Given the description of an element on the screen output the (x, y) to click on. 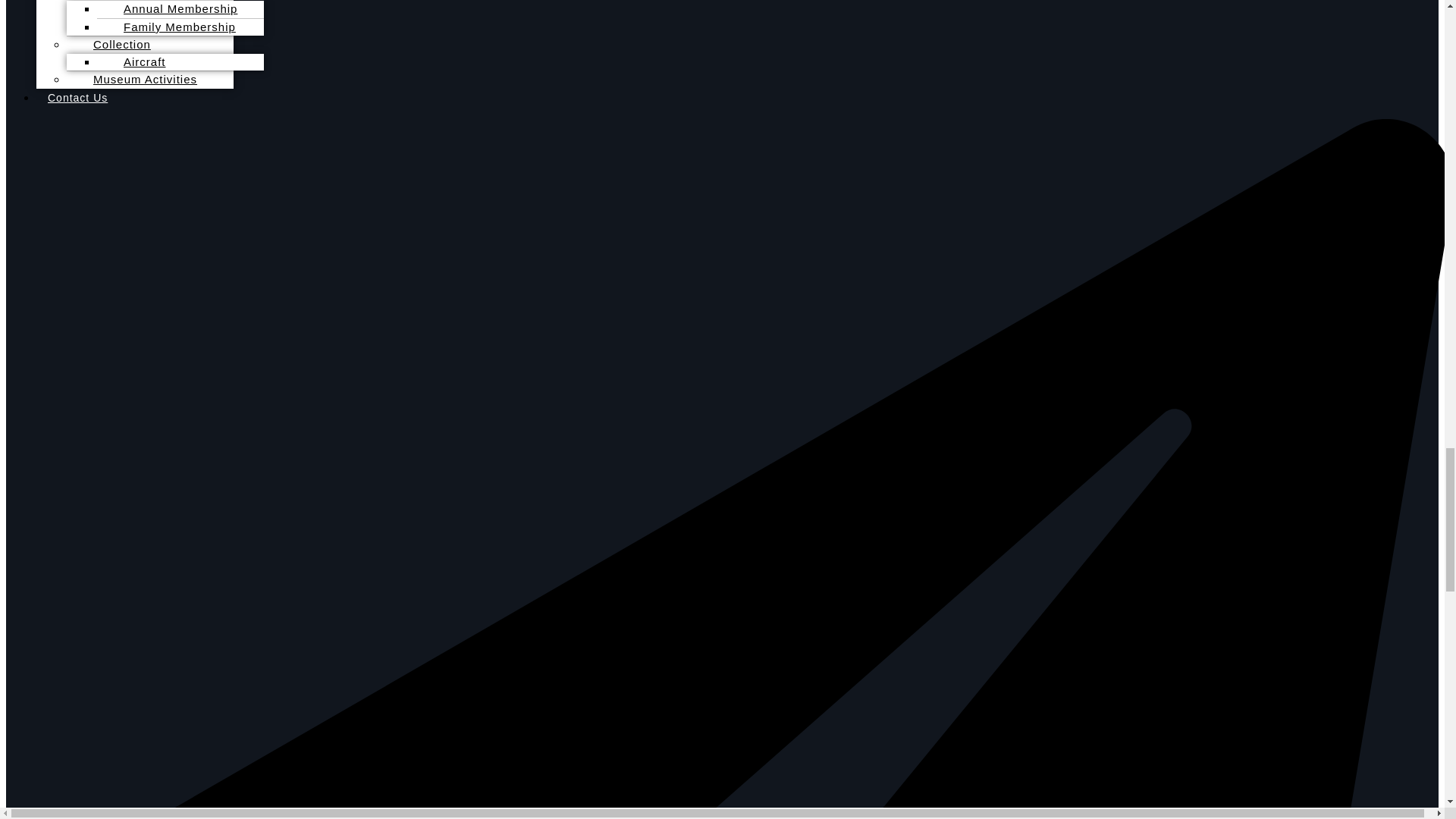
Museum Activities (137, 79)
Contact Us (77, 97)
Memberships (123, 4)
Collection (113, 44)
Aircraft (137, 61)
Annual Membership (172, 13)
Family Membership (172, 27)
